Given the description of an element on the screen output the (x, y) to click on. 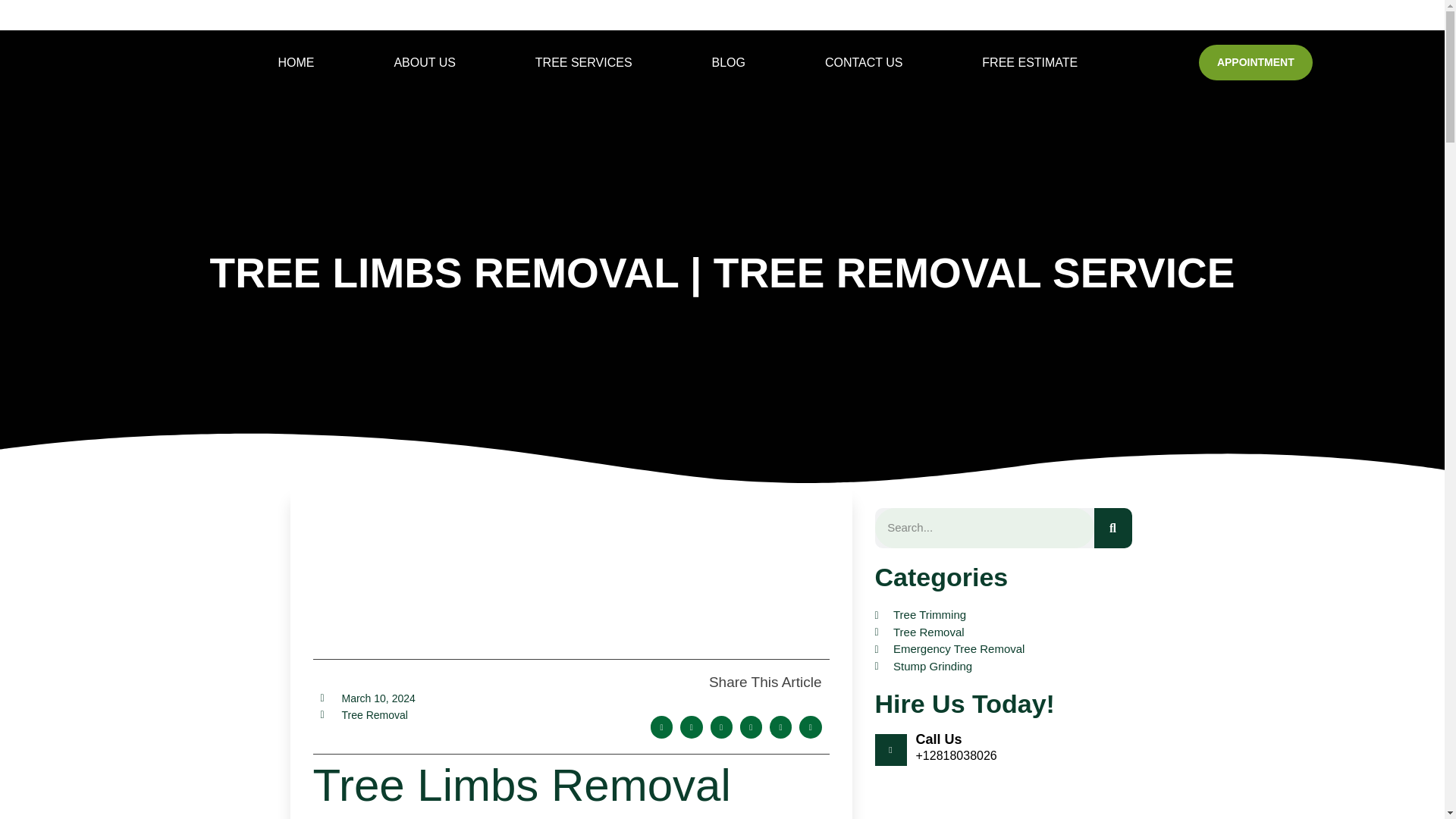
FREE ESTIMATE (1029, 62)
March 10, 2024 (367, 698)
TREE SERVICES (583, 62)
CONTACT US (863, 62)
BLOG (727, 62)
HOME (296, 62)
APPOINTMENT (1255, 62)
Tree Removal (373, 715)
ABOUT US (424, 62)
